Given the description of an element on the screen output the (x, y) to click on. 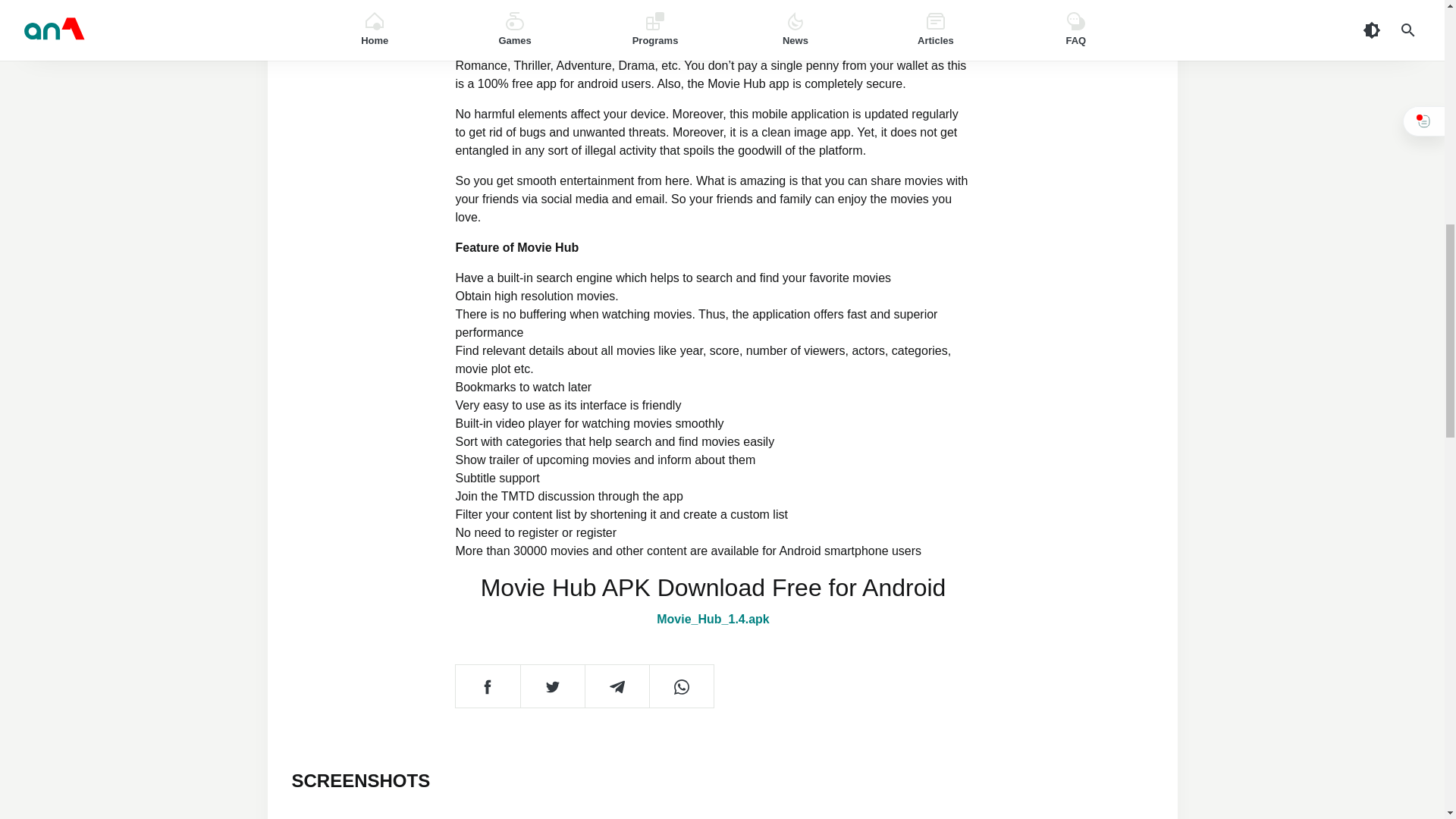
Share on Twitter (552, 686)
Share on WhatsApp (681, 686)
Share on Telegram (615, 686)
Share on Facebook (486, 686)
